Given the description of an element on the screen output the (x, y) to click on. 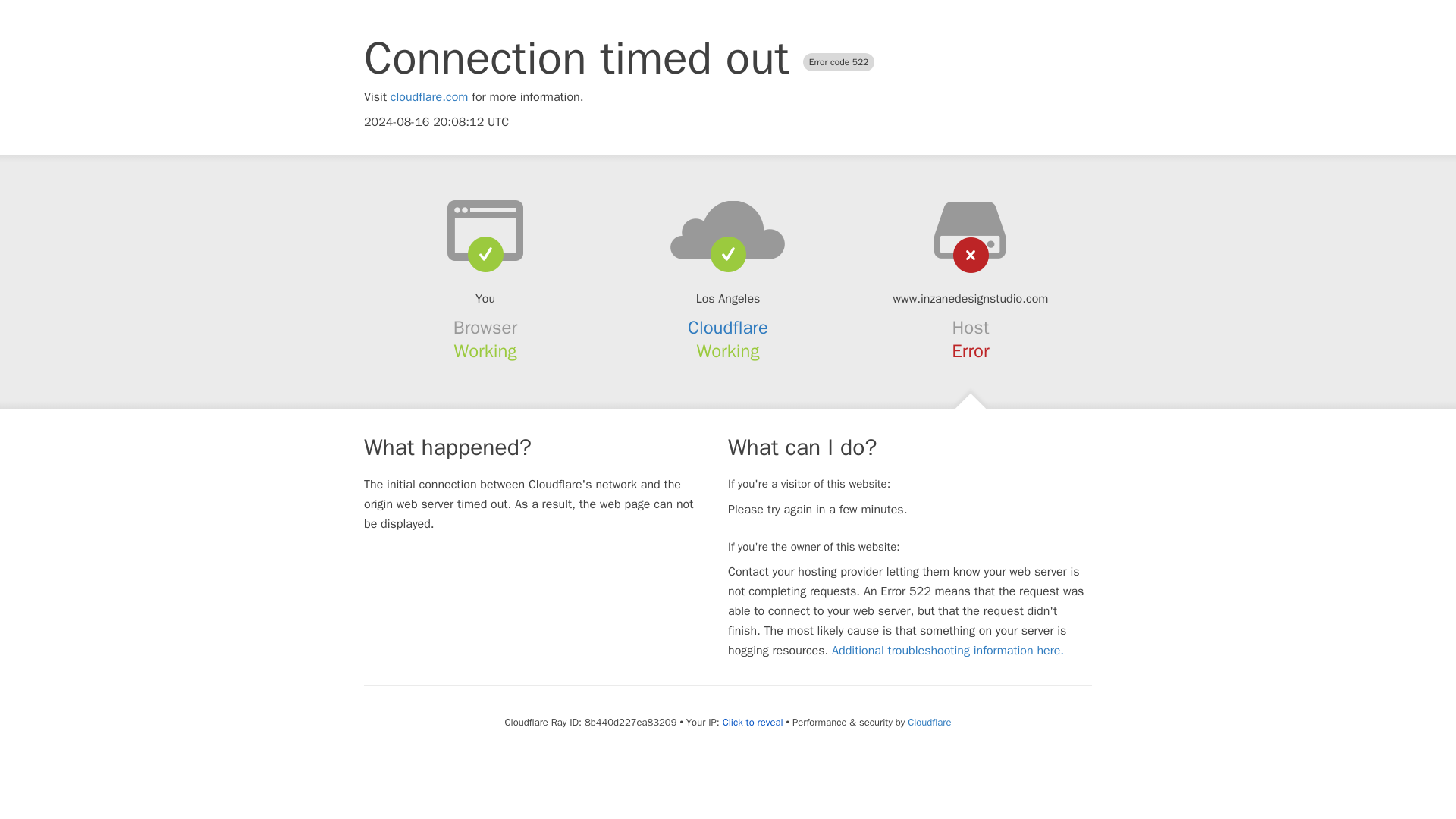
Cloudflare (928, 721)
Click to reveal (752, 722)
cloudflare.com (429, 96)
Cloudflare (727, 327)
Additional troubleshooting information here. (947, 650)
